Given the description of an element on the screen output the (x, y) to click on. 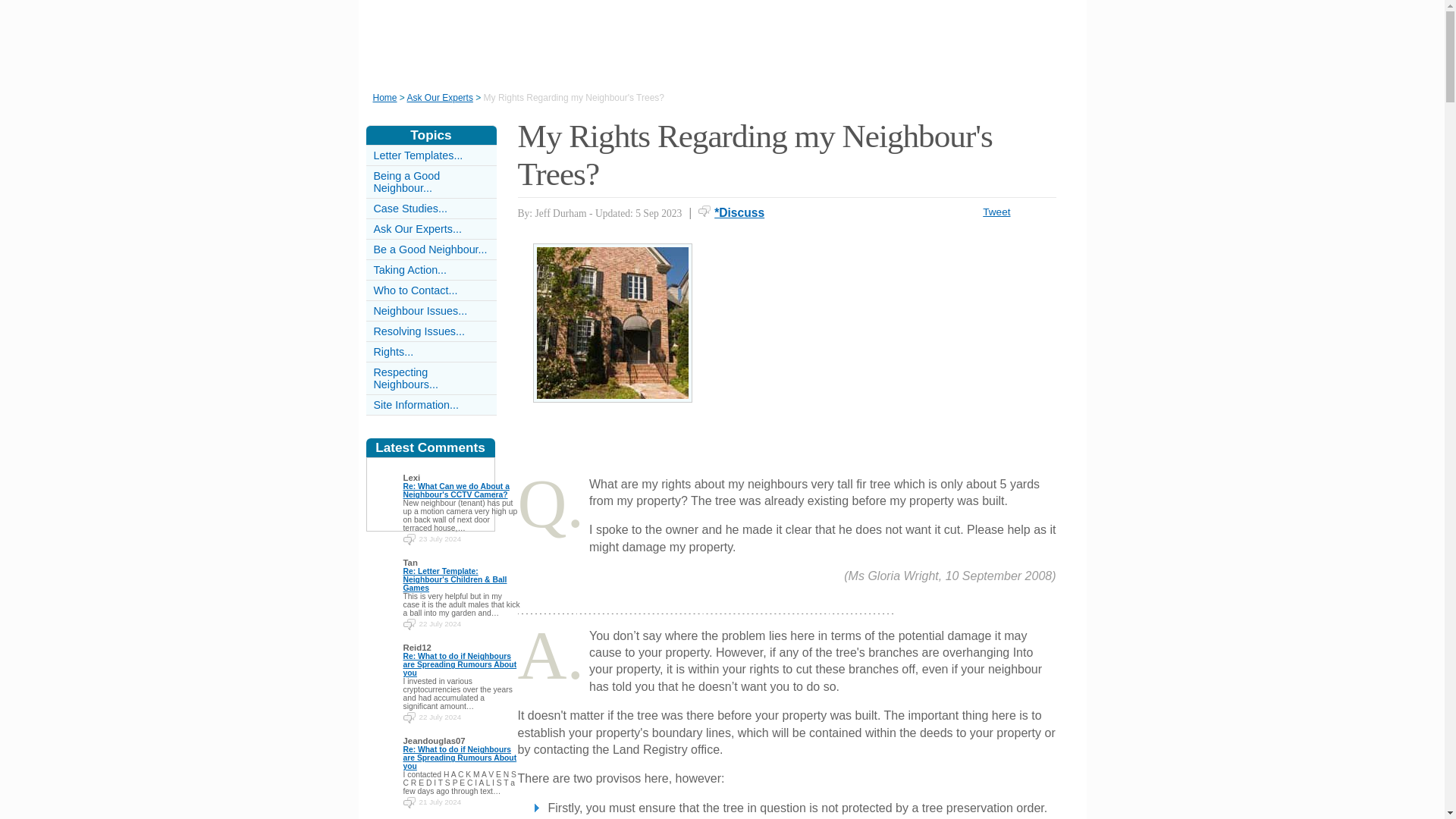
Re: What Can we do About a Neighbour's CCTV Camera? (456, 490)
Who to Contact... (414, 290)
Resolving Issues... (418, 331)
Rights... (392, 351)
Home (384, 97)
Ask Our Experts... (416, 228)
Advertisement (889, 349)
Ask Our Experts (440, 97)
Be a Good Neighbour... (429, 249)
Respecting Neighbours... (405, 378)
Taking Action... (409, 269)
Letter Templates... (417, 155)
Re: What to do if Neighbours are Spreading Rumours About you (459, 664)
Neighbour Issues... (419, 310)
Case Studies... (409, 208)
